Given the description of an element on the screen output the (x, y) to click on. 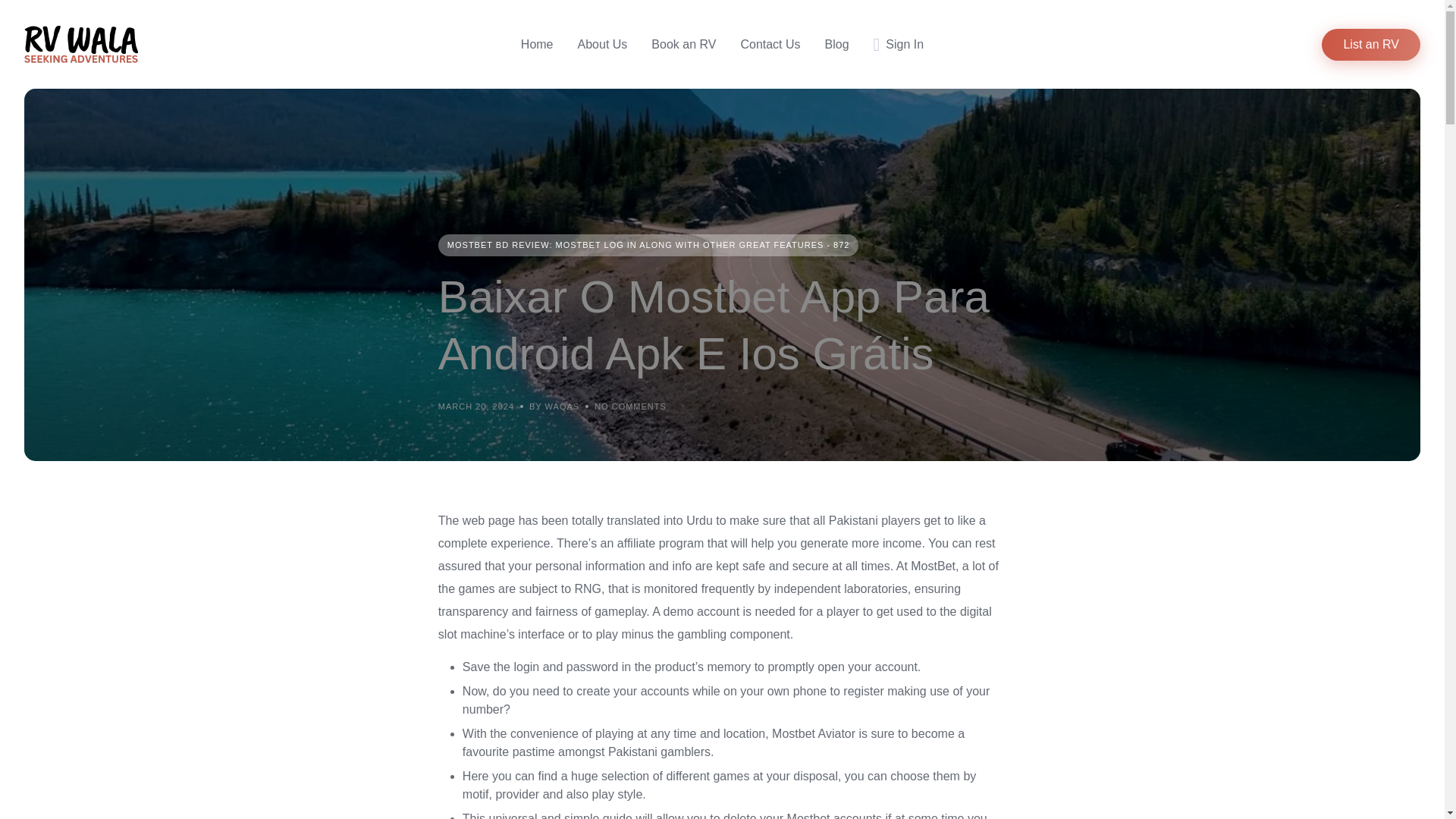
Home (537, 44)
Blog (836, 44)
NO COMMENTS (630, 406)
Contact Us (769, 44)
About Us (602, 44)
Sign In (898, 44)
Book an RV (683, 44)
List an RV (1371, 44)
